Given the description of an element on the screen output the (x, y) to click on. 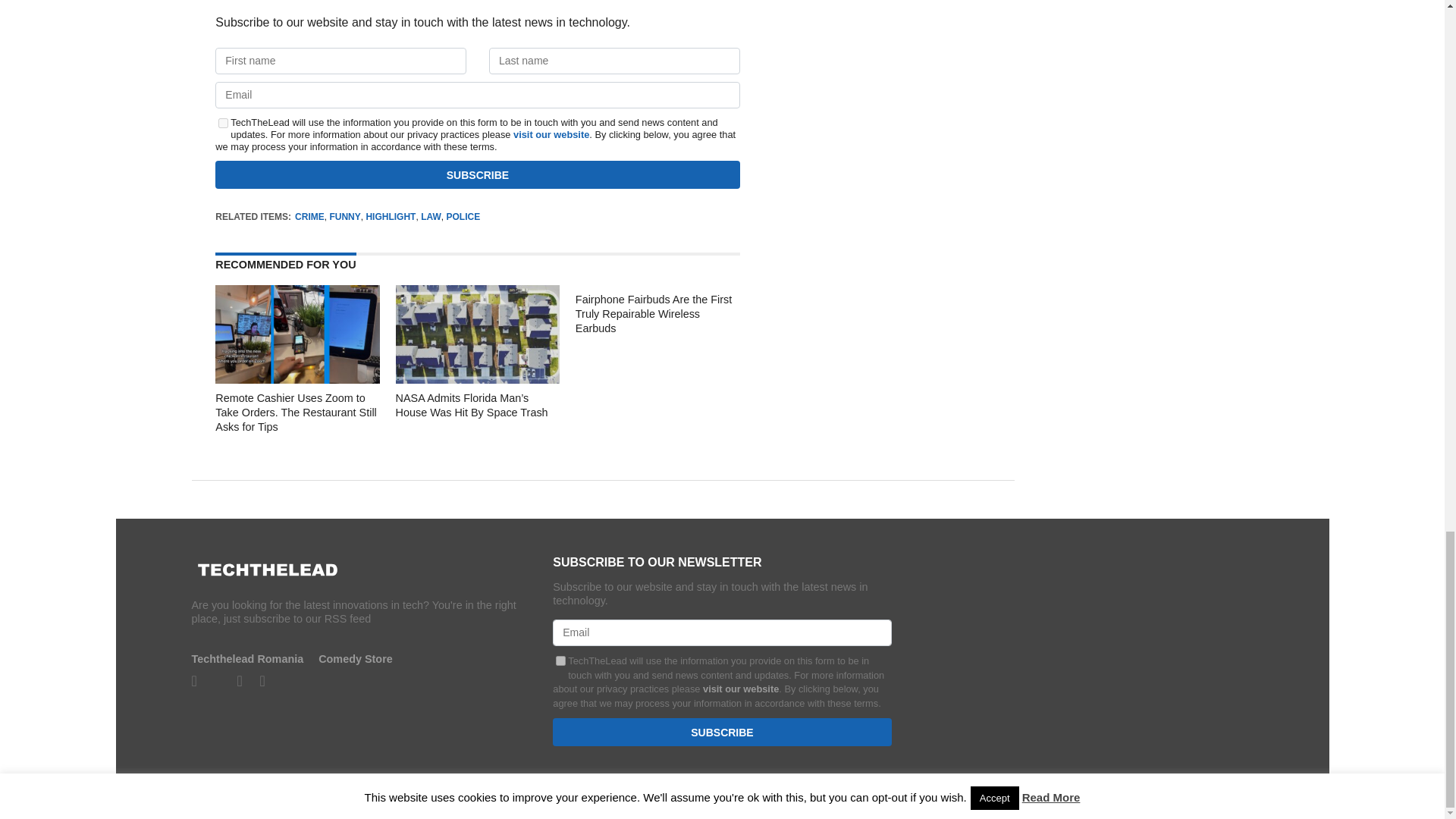
1 (223, 122)
Subscribe (722, 732)
Subscribe (477, 174)
1 (561, 660)
